Given the description of an element on the screen output the (x, y) to click on. 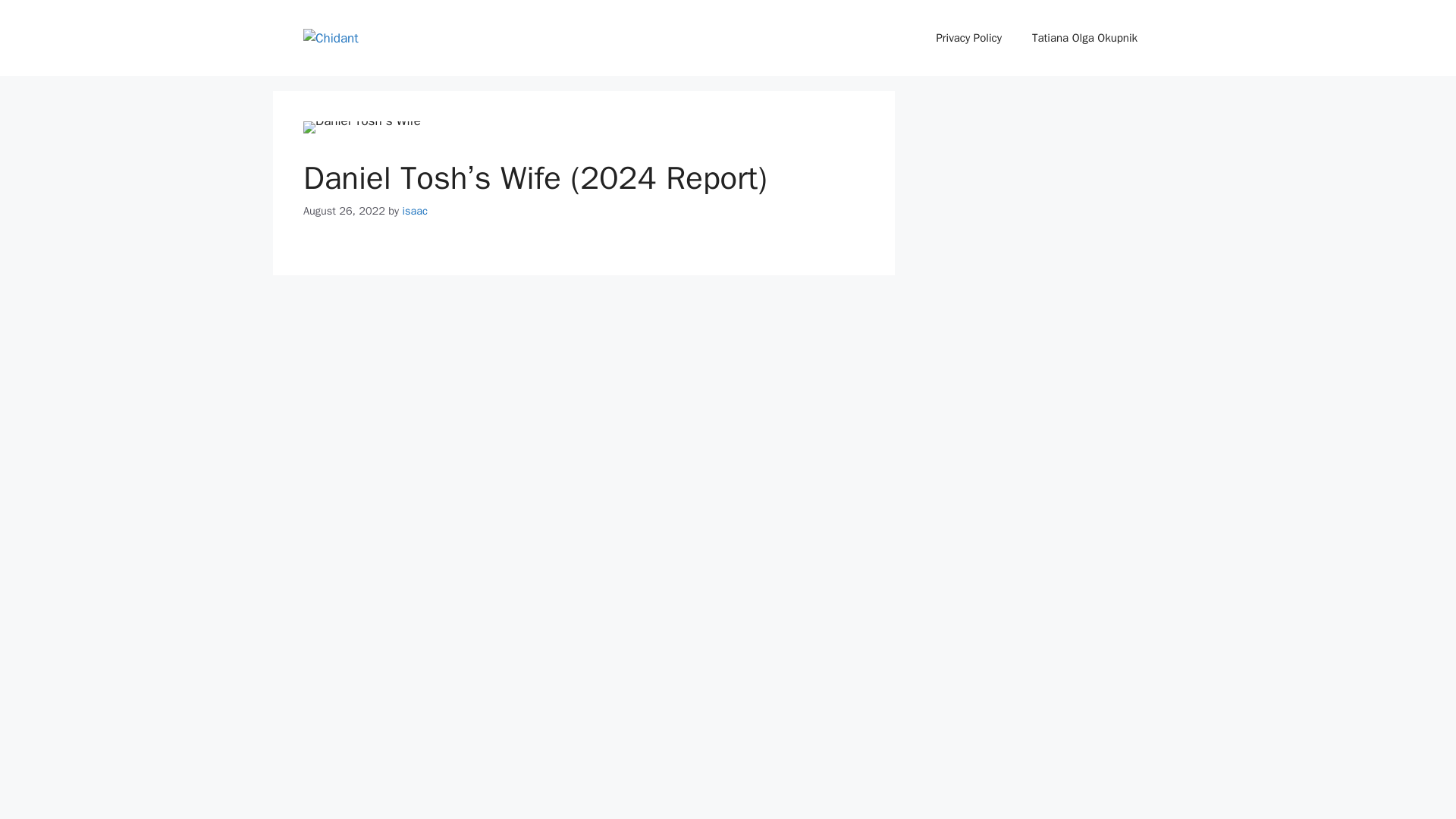
Tatiana Olga Okupnik (1084, 37)
View all posts by isaac (413, 210)
isaac (413, 210)
Privacy Policy (968, 37)
